Given the description of an element on the screen output the (x, y) to click on. 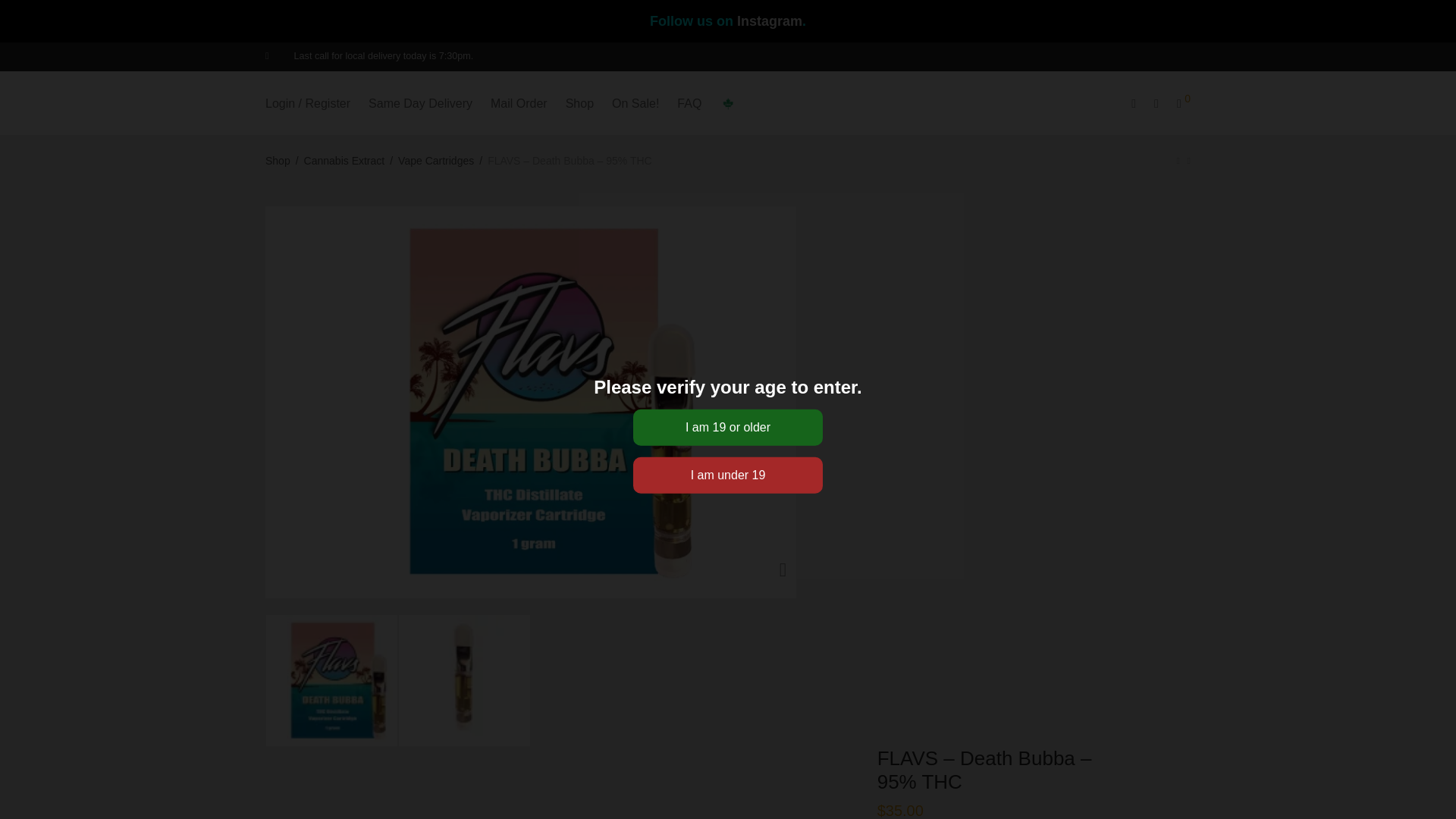
Instagram (769, 20)
Mail Order (518, 103)
I am under 19 (727, 474)
Shop (579, 103)
I am 19 or older (727, 426)
Same Day Delivery (420, 103)
